Given the description of an element on the screen output the (x, y) to click on. 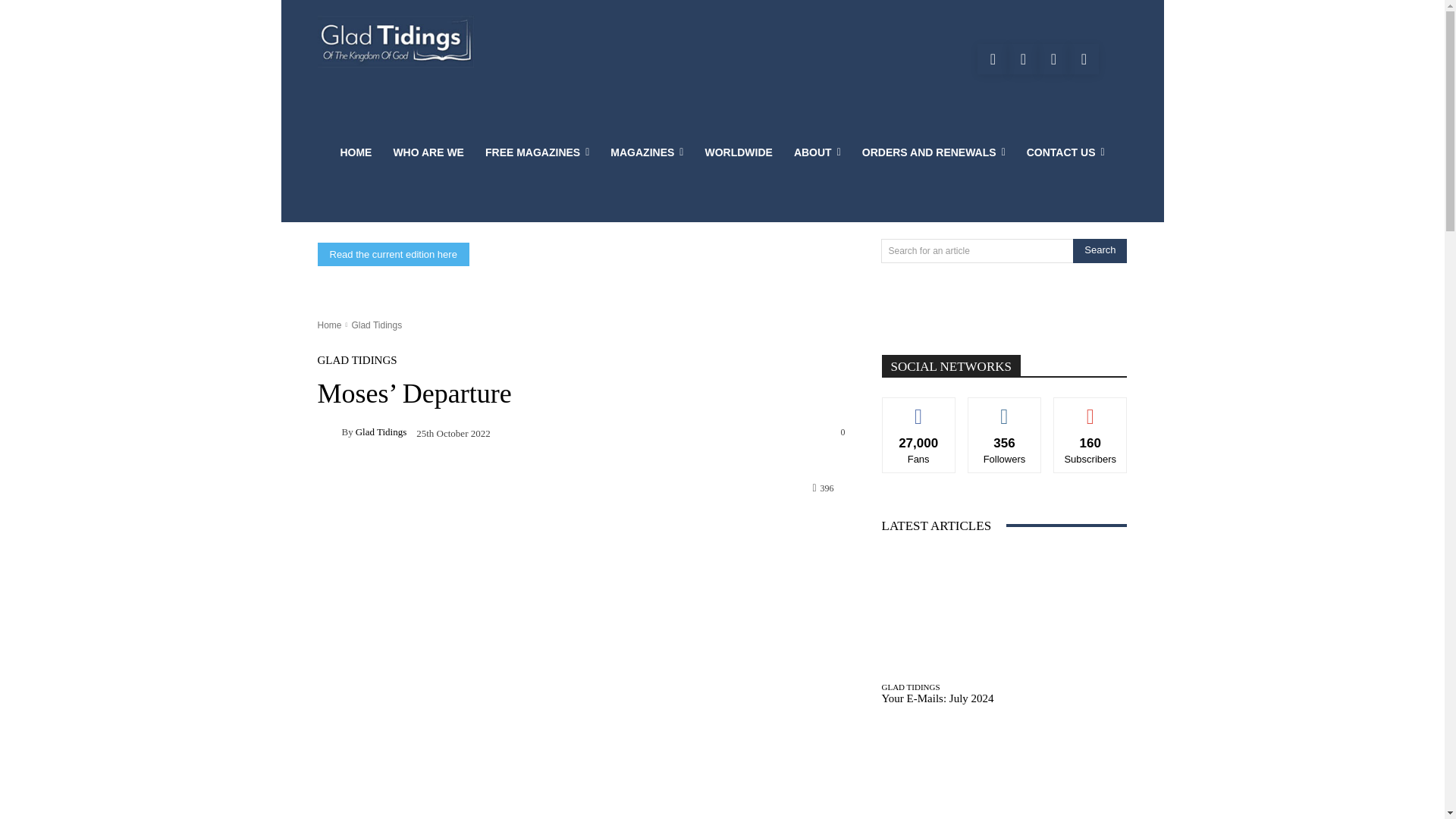
WHO ARE WE (427, 152)
Instagram (1053, 59)
HOME (355, 152)
Download and view the latest articles (395, 41)
FREE MAGAZINES (536, 152)
Youtube (1022, 59)
MAGAZINES (646, 152)
Mail-1 (1083, 59)
WORLDWIDE (738, 152)
Facebook (991, 59)
